Given the description of an element on the screen output the (x, y) to click on. 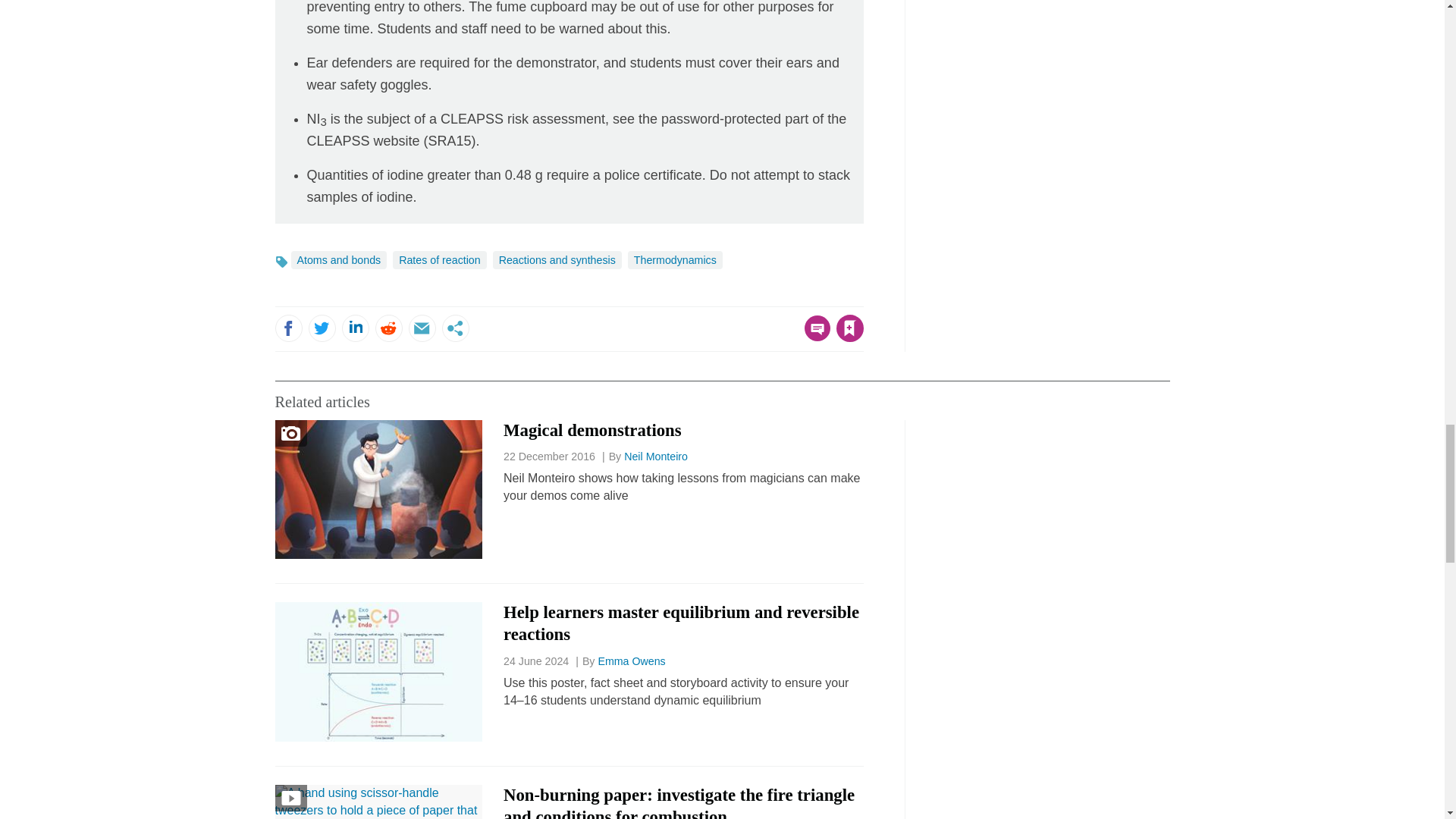
Share this on Twitter (320, 328)
Share this on Facebook (288, 328)
More share options (454, 328)
No comments (812, 337)
Share this on Reddit (387, 328)
Share this by email (421, 328)
Share this on LinkedIn (354, 328)
